Given the description of an element on the screen output the (x, y) to click on. 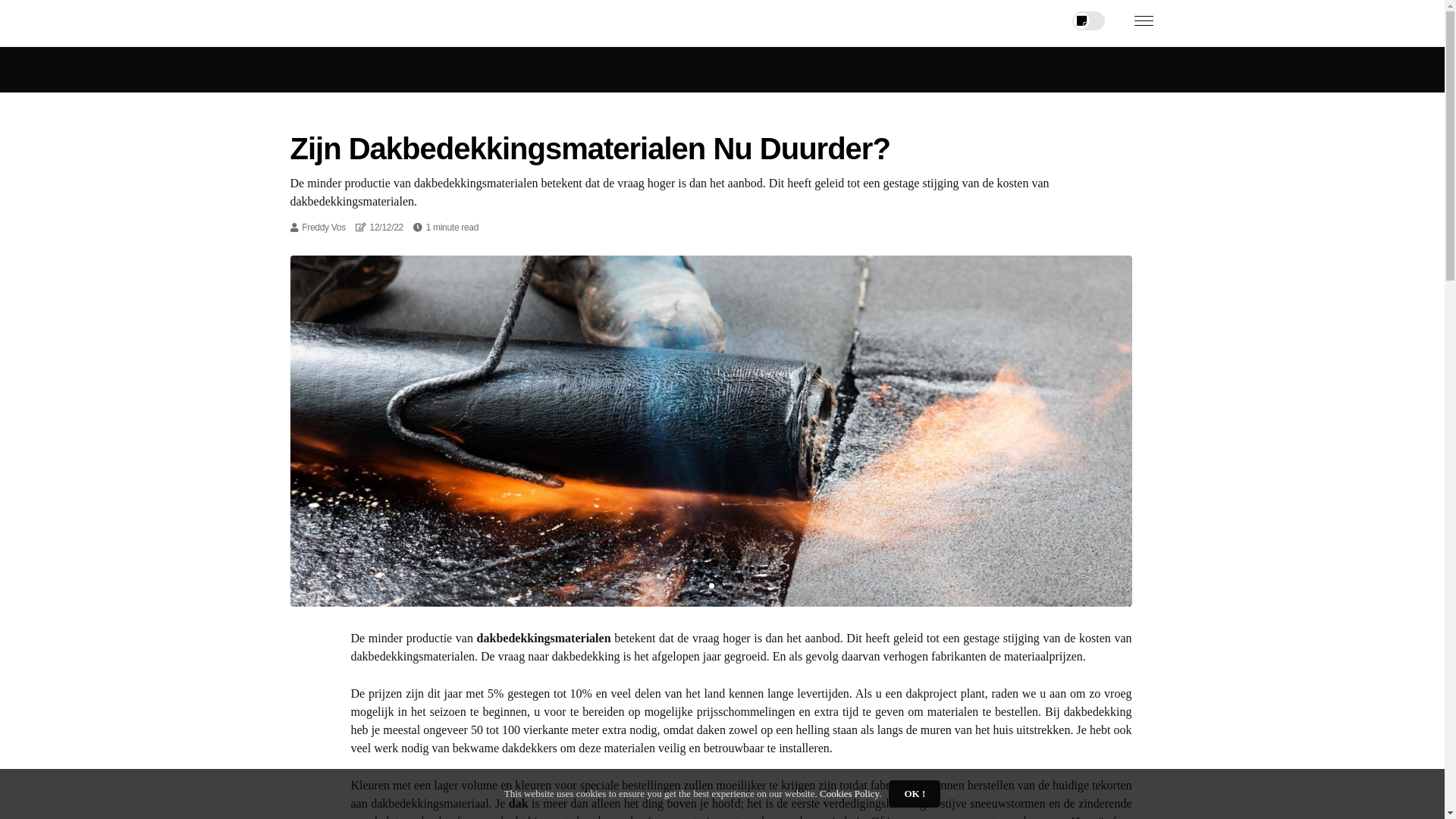
Cookies Policy Element type: text (848, 793)
Freddy Vos Element type: text (323, 227)
1 Element type: text (710, 585)
